Given the description of an element on the screen output the (x, y) to click on. 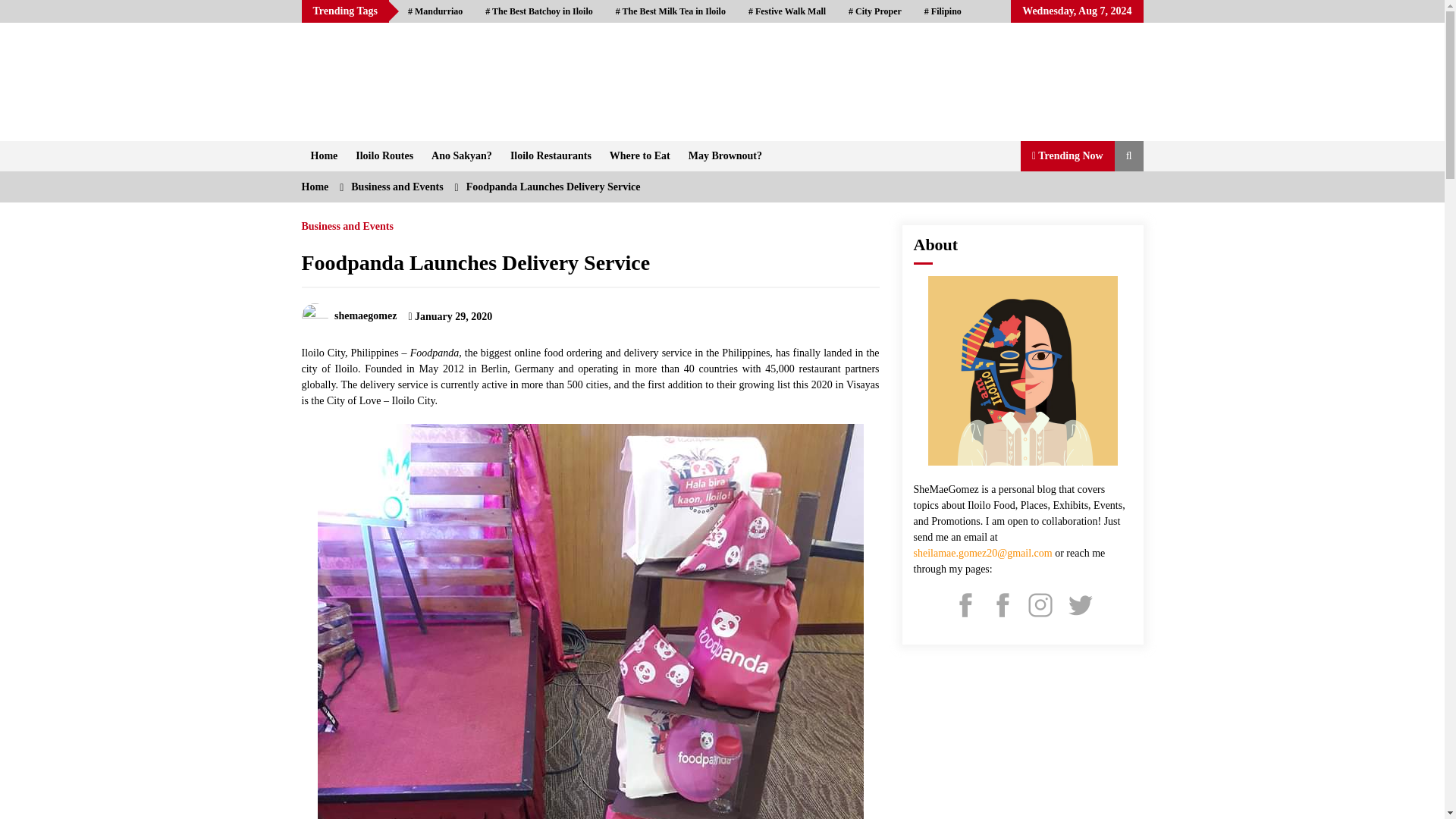
May Brownout? (725, 155)
City Proper (874, 11)
Ano Sakyan? (461, 155)
Festive Walk Mall (786, 11)
The Best Batchoy in Iloilo (539, 11)
Where to Eat (639, 155)
Mandurriao (435, 11)
Home (324, 155)
Iloilo Restaurants (549, 155)
Iloilo Routes (384, 155)
